Given the description of an element on the screen output the (x, y) to click on. 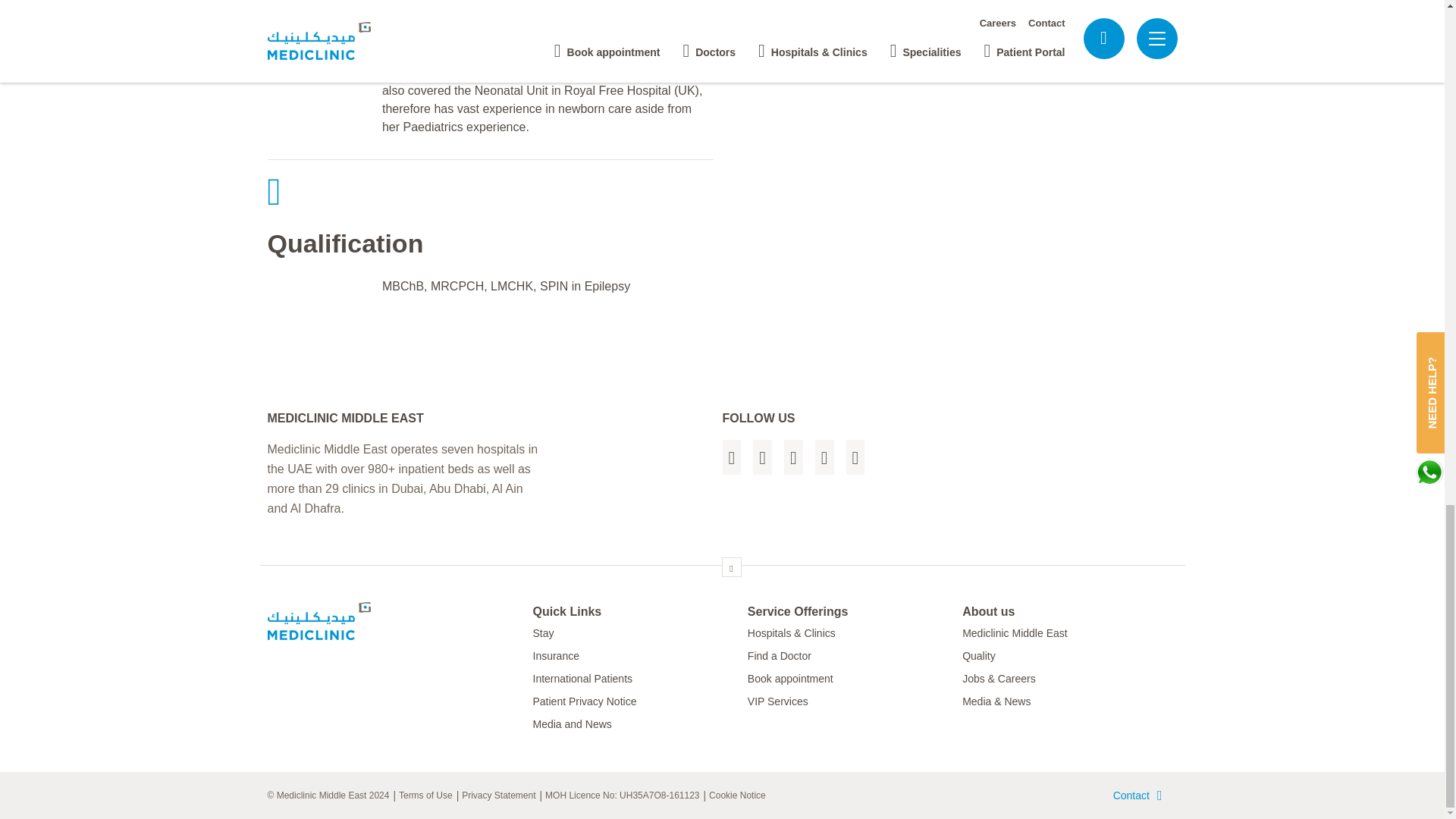
Facebook (731, 457)
YouTube (824, 457)
Scroll to Top (730, 566)
Twitter (761, 457)
Instagram (854, 457)
LinkedIn (793, 457)
